Given the description of an element on the screen output the (x, y) to click on. 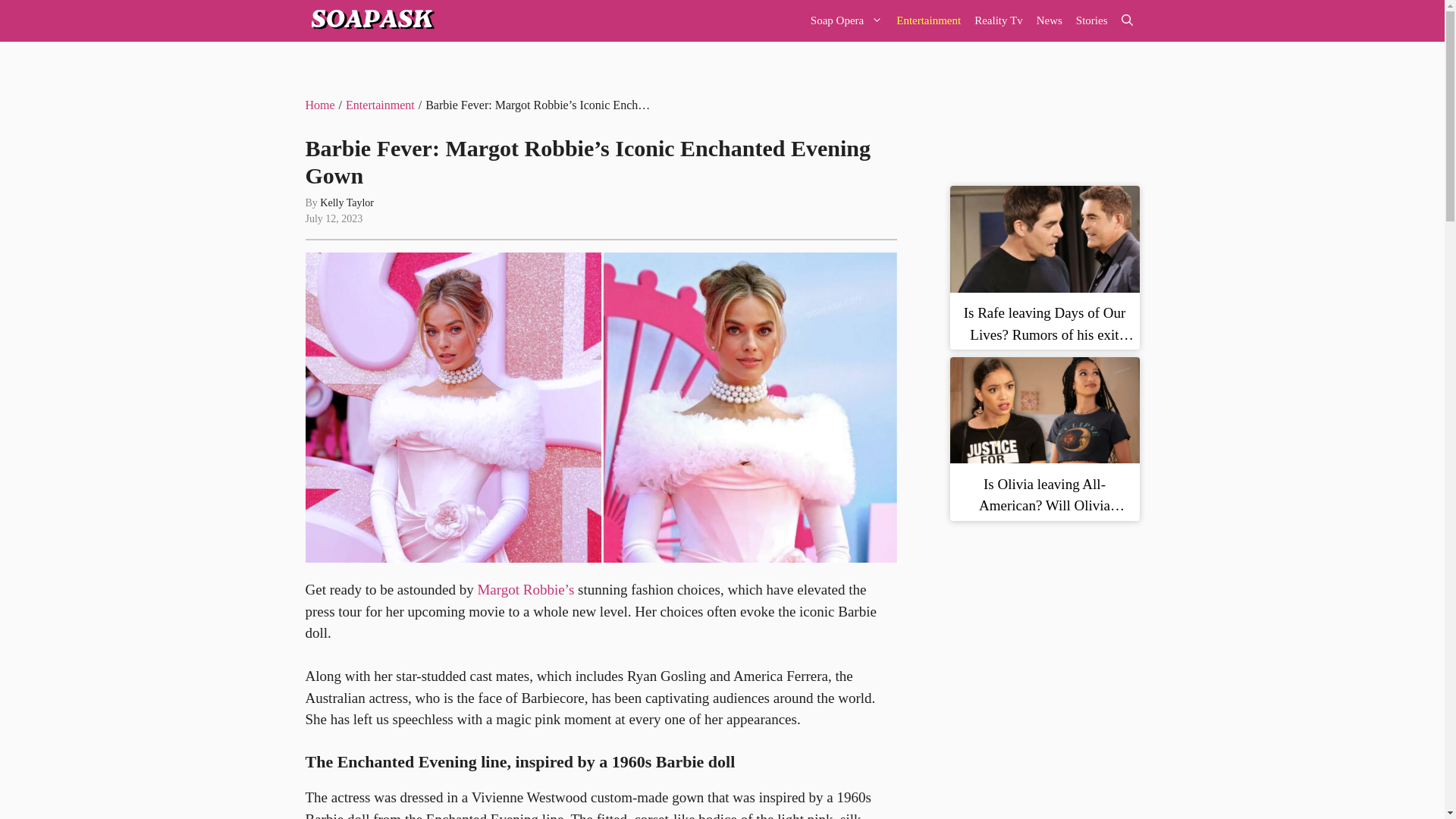
View all posts by Kelly Taylor (347, 202)
Soap Opera (846, 20)
SoapAsk (370, 20)
